Given the description of an element on the screen output the (x, y) to click on. 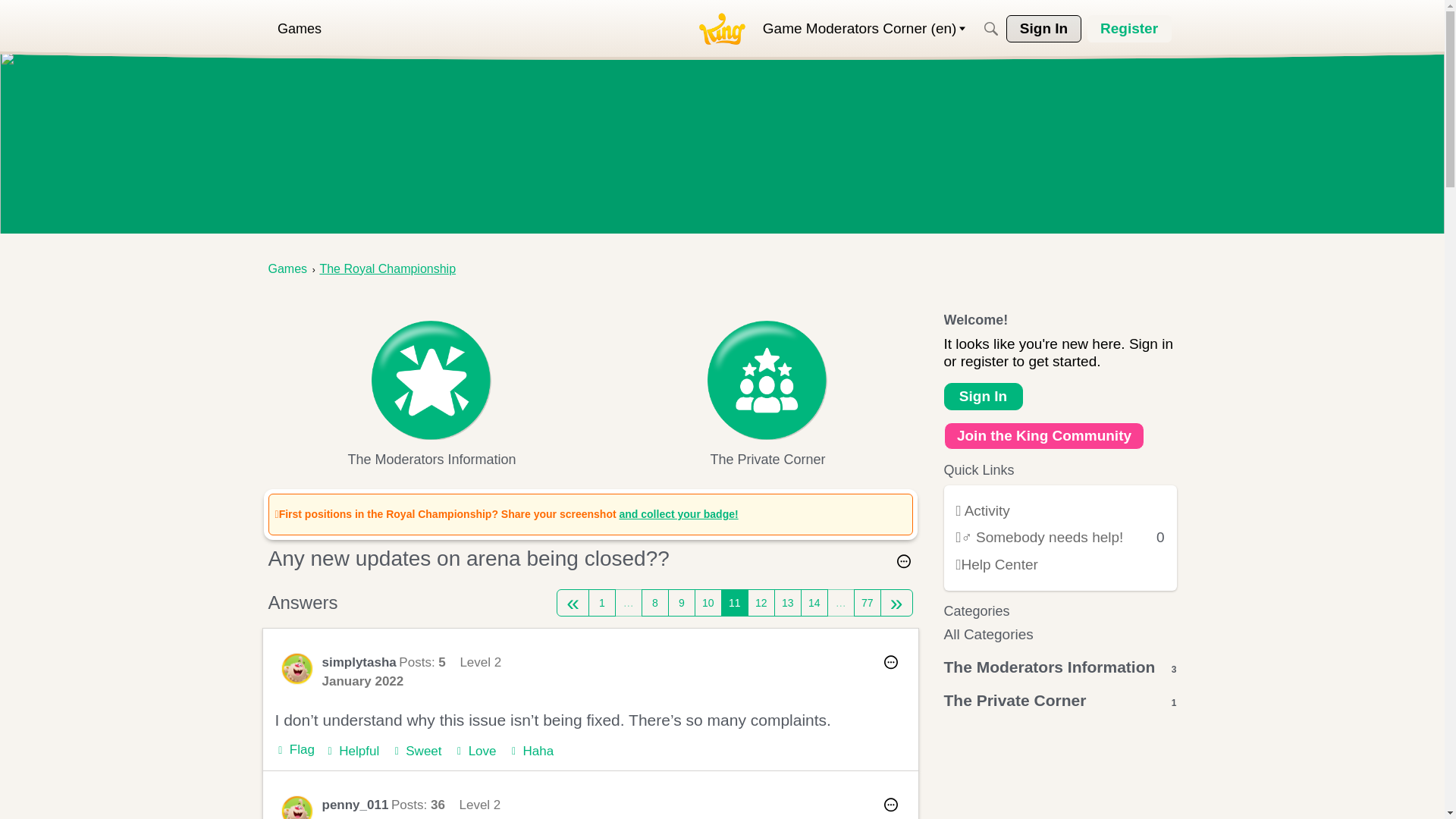
Flag (294, 749)
9 (681, 602)
14 (814, 602)
The Royal Championship (386, 268)
Sign In (1043, 28)
Previous Page (572, 602)
13 (788, 602)
12 (761, 602)
Level 2 (479, 804)
Love (475, 750)
Search (990, 28)
77 (866, 602)
Helpful (351, 750)
January 12, 2022 9:40PM (362, 681)
